Given the description of an element on the screen output the (x, y) to click on. 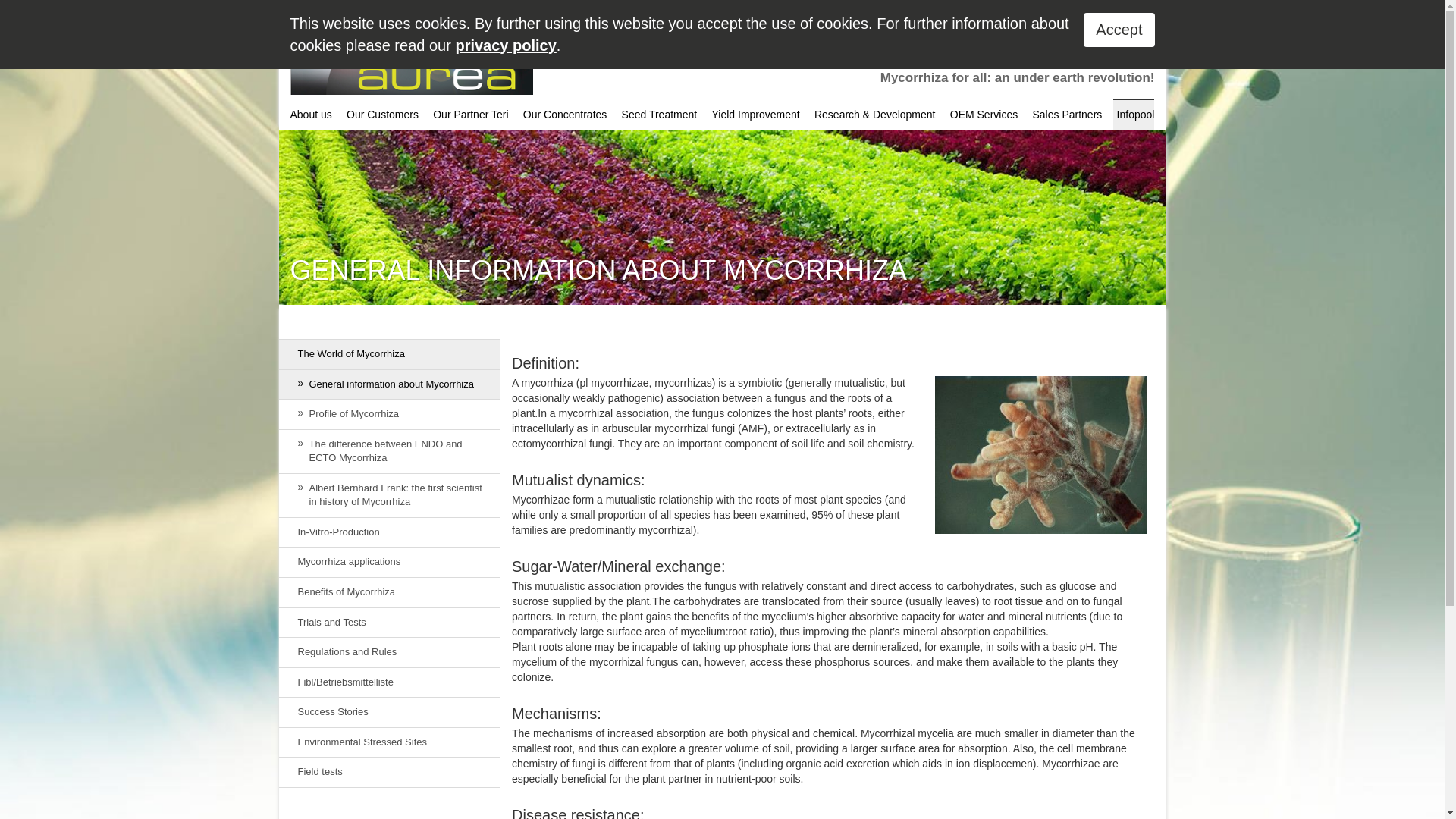
Sales Partners (1066, 114)
Sales Partners (1066, 114)
Our Concentrates (565, 114)
Our Customers (382, 114)
About us (311, 114)
Yield Improvement (755, 114)
OEM Services (984, 114)
Seed Treatment (659, 114)
Our Concentrates (565, 114)
Aurea (410, 53)
Our Partner Teri (470, 114)
Our Partner Teri (470, 114)
OEM Services (984, 114)
Infopool (1133, 114)
Our Customers (382, 114)
